Given the description of an element on the screen output the (x, y) to click on. 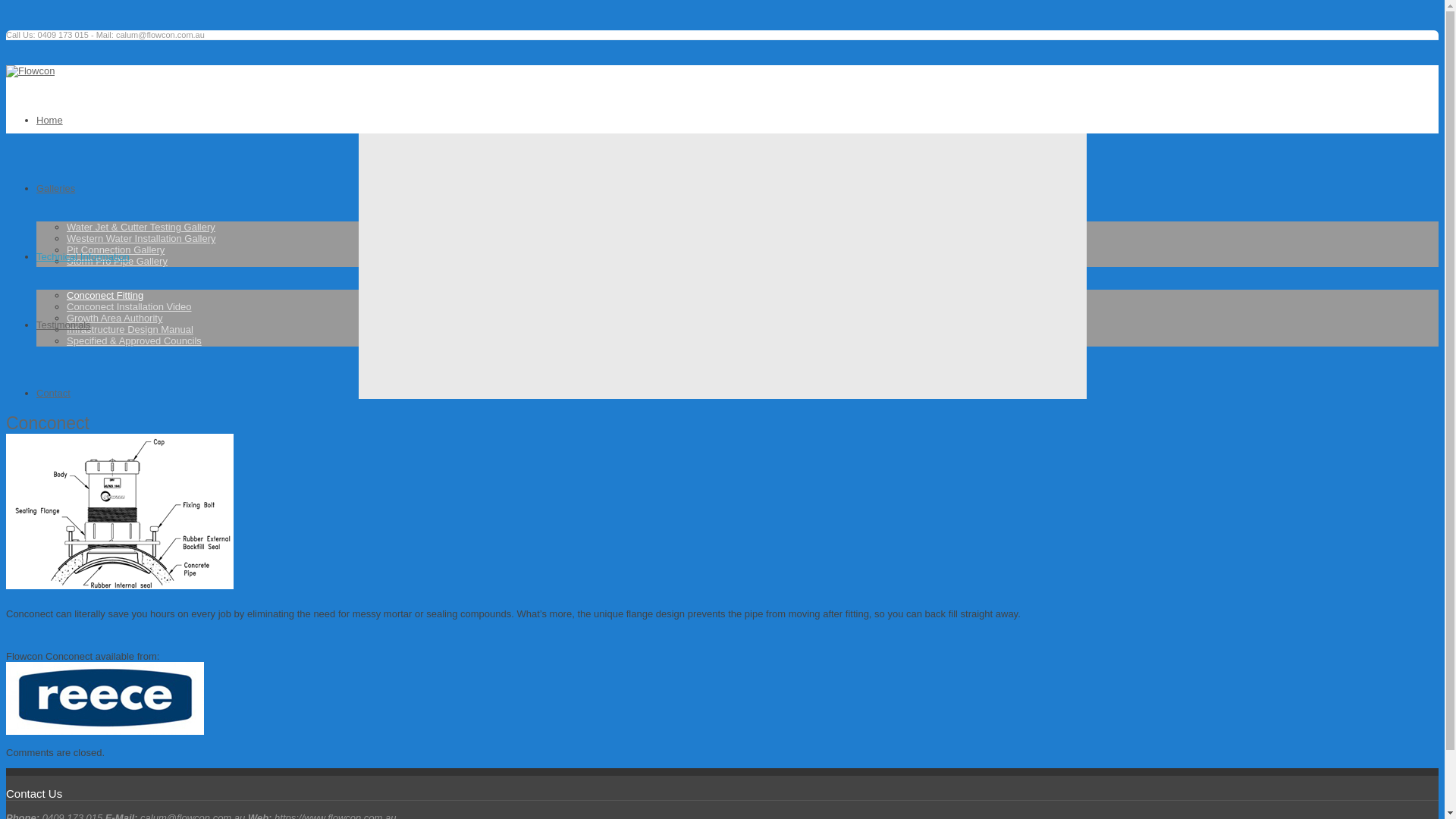
Specified & Approved Councils Element type: text (133, 340)
Home Element type: text (49, 119)
Testimonials Element type: text (63, 324)
Water Jet & Cutter Testing Gallery Element type: text (140, 226)
Contact Element type: text (53, 392)
Pit Connection Gallery Element type: text (115, 249)
Technical Information Element type: text (82, 256)
Western Water Installation Gallery Element type: text (141, 238)
Conconect Installation Video Element type: text (128, 306)
Conconect Fitting Element type: text (104, 295)
Growth Area Authority Element type: text (114, 317)
Infrastructure Design Manual Element type: text (129, 329)
Galleries Element type: text (55, 188)
Storm Pro Pipe Gallery Element type: text (116, 260)
